Given the description of an element on the screen output the (x, y) to click on. 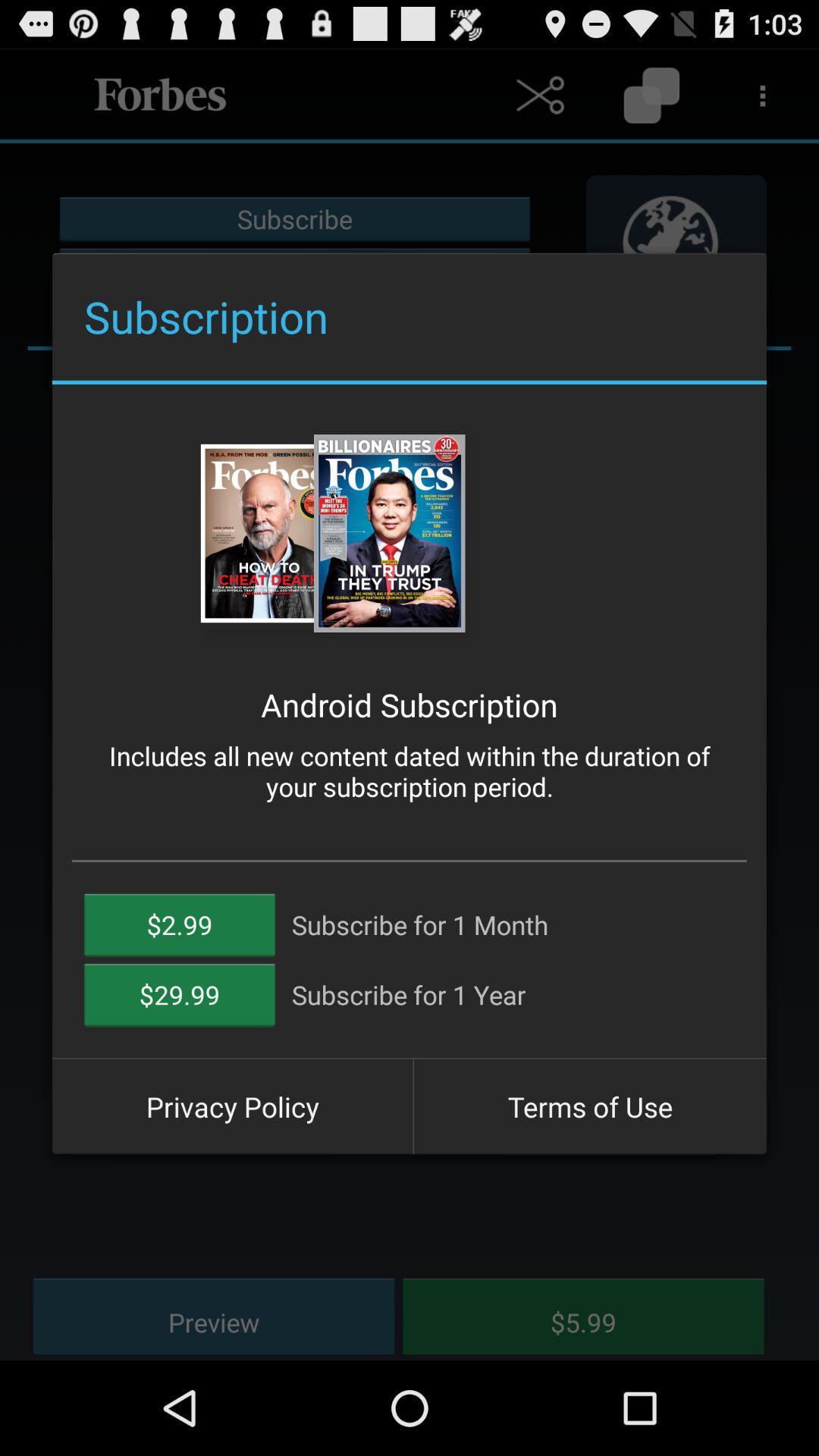
launch button next to the terms of use icon (232, 1106)
